Given the description of an element on the screen output the (x, y) to click on. 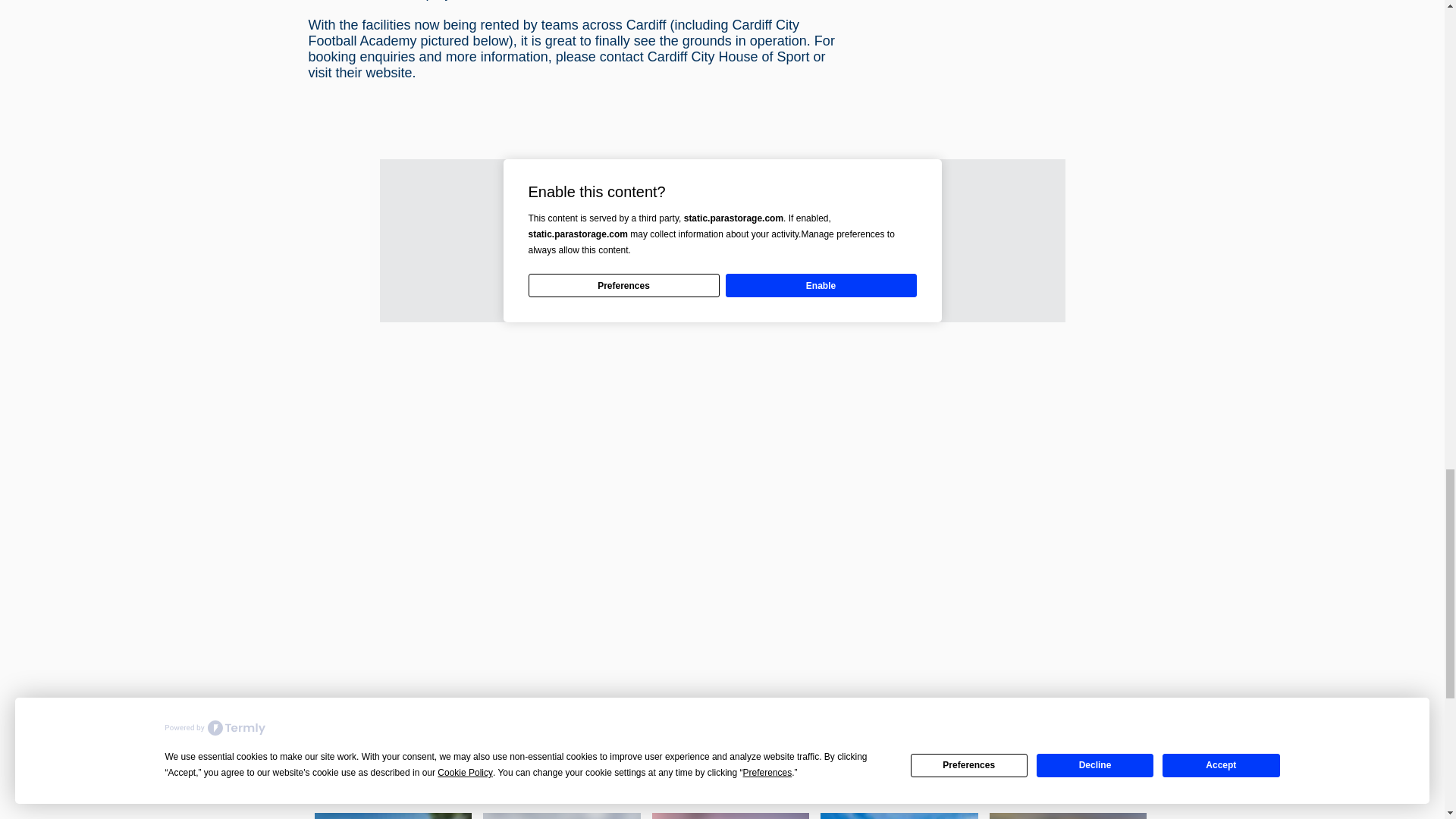
Waterside Drive (730, 816)
Eastern High School (899, 816)
Celtic Manor Resort (561, 816)
Enable (820, 285)
Cardiff West Community High School (392, 816)
Swansea Univeristy (1068, 816)
Preferences (623, 285)
